Given the description of an element on the screen output the (x, y) to click on. 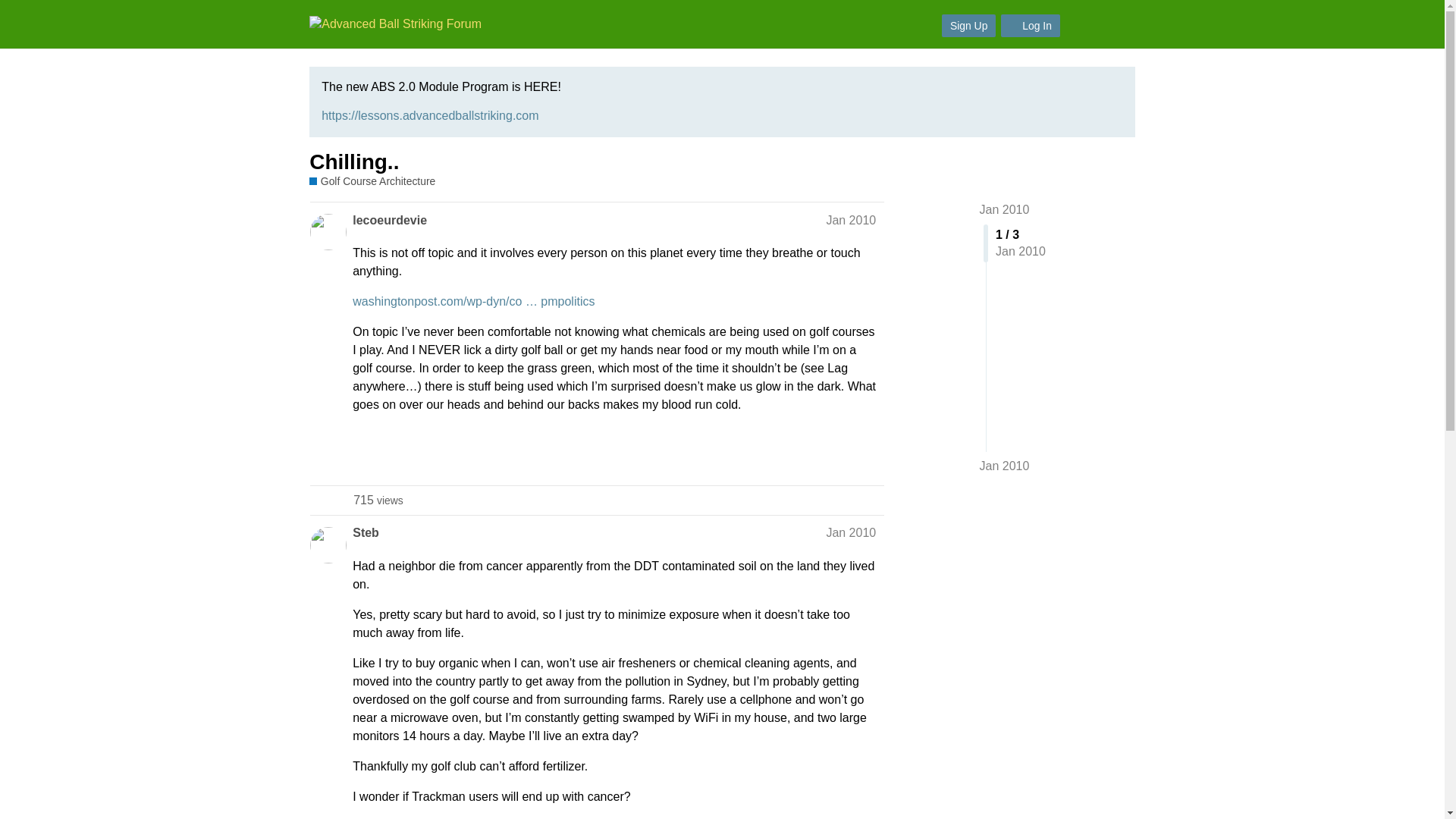
Log In (1030, 25)
Steb (365, 532)
Sign Up (968, 25)
Search (1082, 23)
Jan 2010 (850, 532)
lecoeurdevie (389, 220)
Golf Course Architecture (371, 181)
copy a link to this post to clipboard (869, 457)
Jump to the first post (377, 499)
Post date (1004, 209)
Post date (850, 532)
Jan 2010 (850, 219)
Jan 2010 (850, 219)
menu (1004, 466)
